Given the description of an element on the screen output the (x, y) to click on. 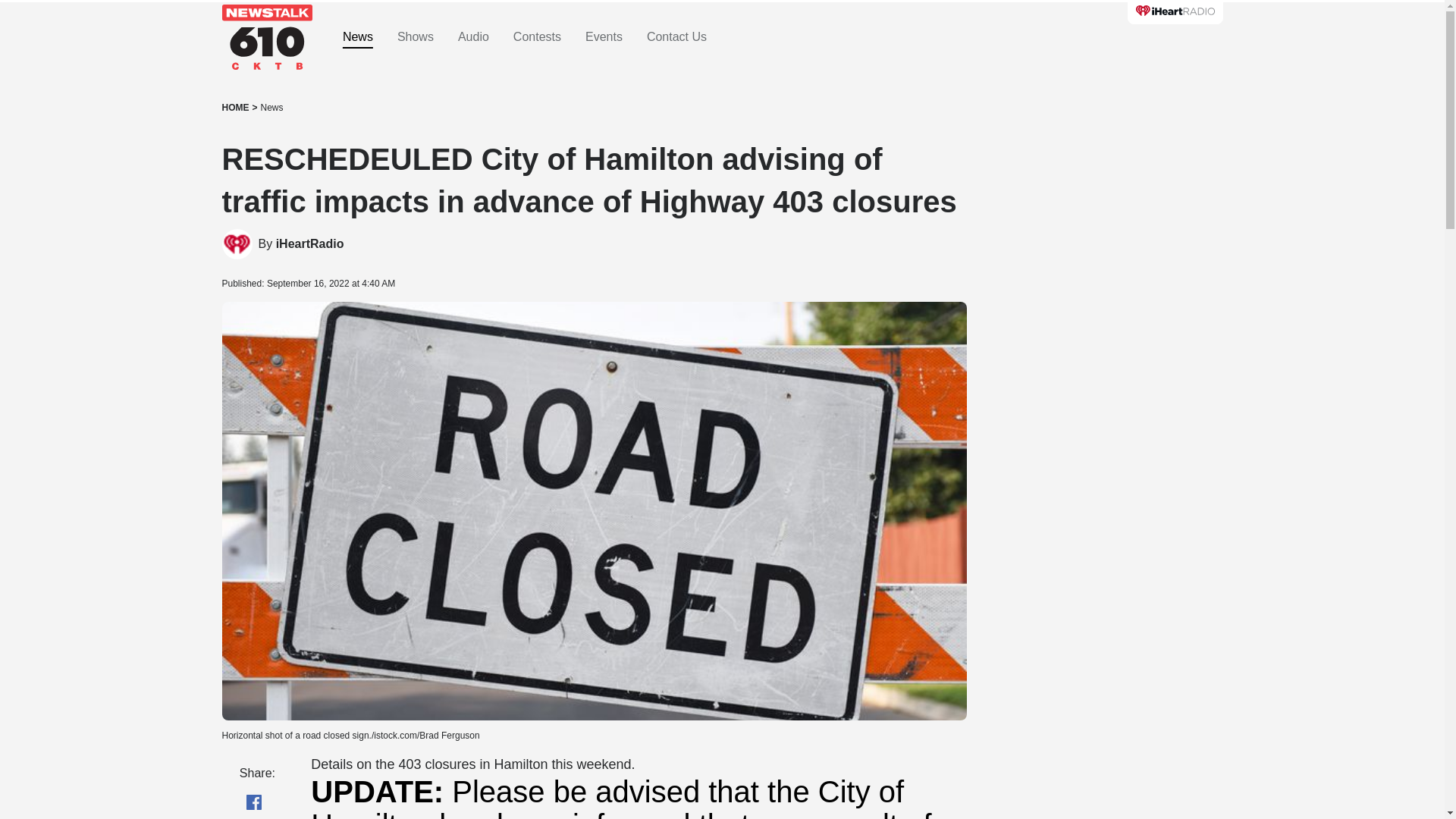
Contests (536, 37)
iHeartRadio   (236, 244)
HOME (234, 107)
Contact Us (676, 37)
iHeartRadio   (309, 243)
News (271, 107)
iHeartRadio (309, 243)
